Given the description of an element on the screen output the (x, y) to click on. 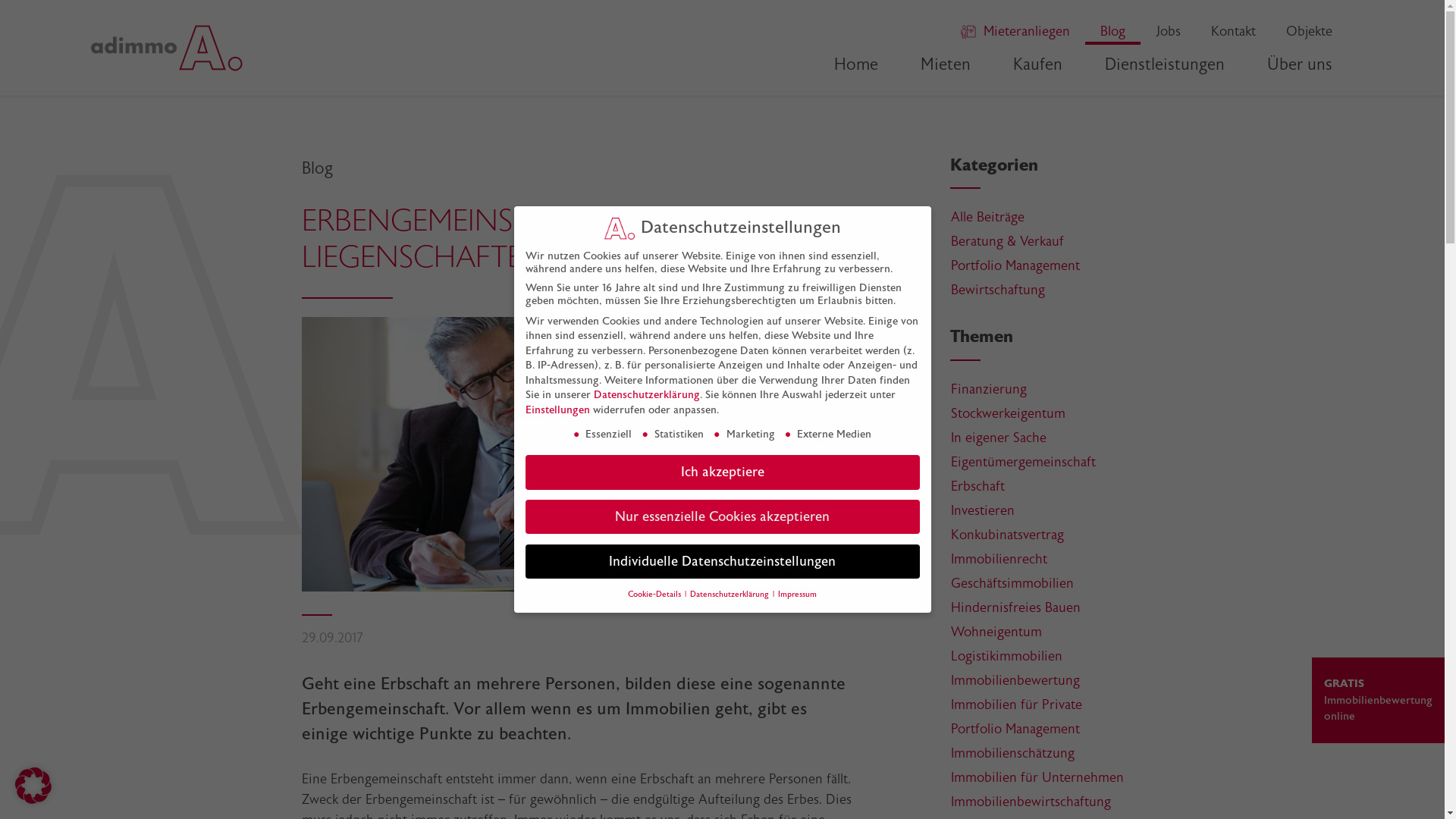
Beratung & Verkauf Element type: text (1006, 240)
Objekte Element type: text (1309, 31)
Individuelle Datenschutzeinstellungen Element type: text (721, 561)
Einstellungen Element type: text (556, 409)
Erbschaft Element type: text (977, 485)
Wohneigentum Element type: text (995, 631)
Immobilie Element type: text (661, 708)
In eigener Sache Element type: text (998, 437)
Ich akzeptiere Element type: text (721, 472)
Immobilienbewertung Element type: text (1014, 679)
Mieteranliegen Element type: text (1026, 31)
Finanzierung Element type: text (988, 388)
Mieten Element type: text (945, 63)
Kaufen Element type: text (1037, 63)
Home Element type: text (856, 63)
Immobilienbewirtschaftung Element type: text (1030, 801)
Blog Element type: text (1112, 31)
Portfolio Management Element type: text (1014, 728)
Hindernisfreies Bauen Element type: text (1015, 607)
Investieren Element type: text (982, 510)
Portfolio Management Element type: text (1014, 265)
Kontakt Element type: text (1233, 31)
Blog Element type: text (316, 167)
Logistikimmobilien Element type: text (1006, 655)
Immobilienrecht Element type: text (998, 558)
Cookie-Details Element type: text (655, 594)
Bewirtschaftung Element type: text (997, 289)
Konkubinatsvertrag Element type: text (1006, 534)
Stockwerkeigentum Element type: text (1007, 412)
Jobs Element type: text (1167, 31)
Nur essenzielle Cookies akzeptieren Element type: text (721, 516)
Impressum Element type: text (797, 594)
Dienstleistungen
(current) Element type: text (1164, 63)
